Given the description of an element on the screen output the (x, y) to click on. 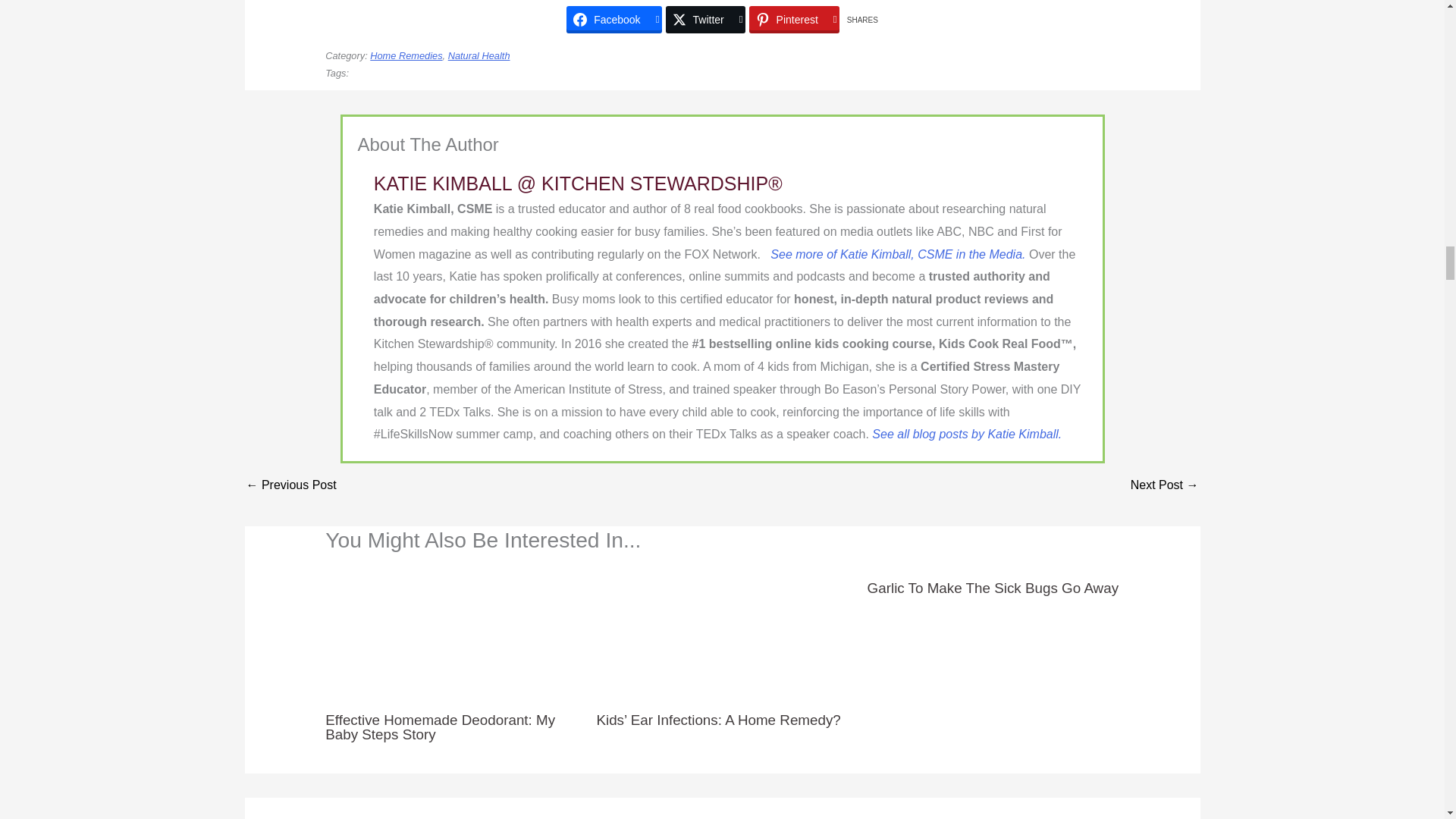
Share on Facebook (613, 19)
Why a Gut Healing Diet May NOT Be the Place to Start (1164, 486)
Share on Twitter (705, 19)
Share on Pinterest (794, 19)
